Given the description of an element on the screen output the (x, y) to click on. 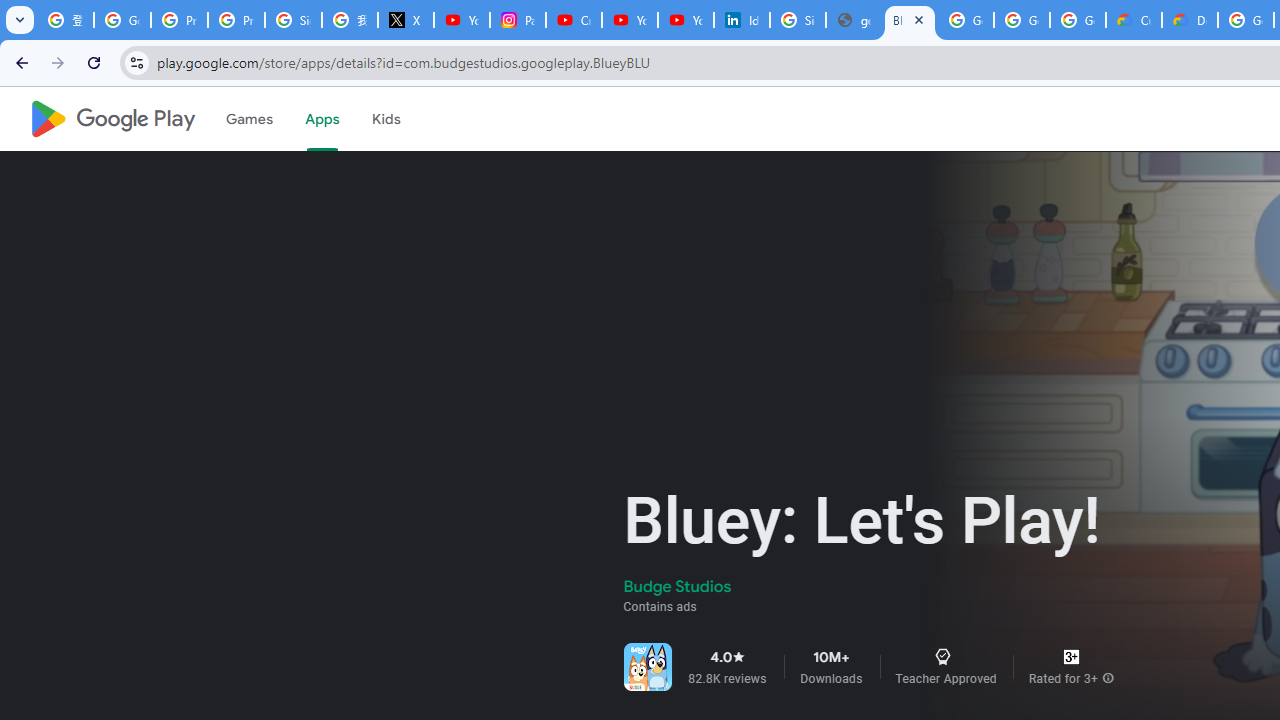
Budge Studios (677, 586)
Privacy Help Center - Policies Help (235, 20)
Customer Care | Google Cloud (1133, 20)
Sign in - Google Accounts (293, 20)
Google Play logo (111, 119)
Apps (321, 119)
Kids (385, 119)
YouTube Culture & Trends - YouTube Top 10, 2021 (685, 20)
Games (248, 119)
